Given the description of an element on the screen output the (x, y) to click on. 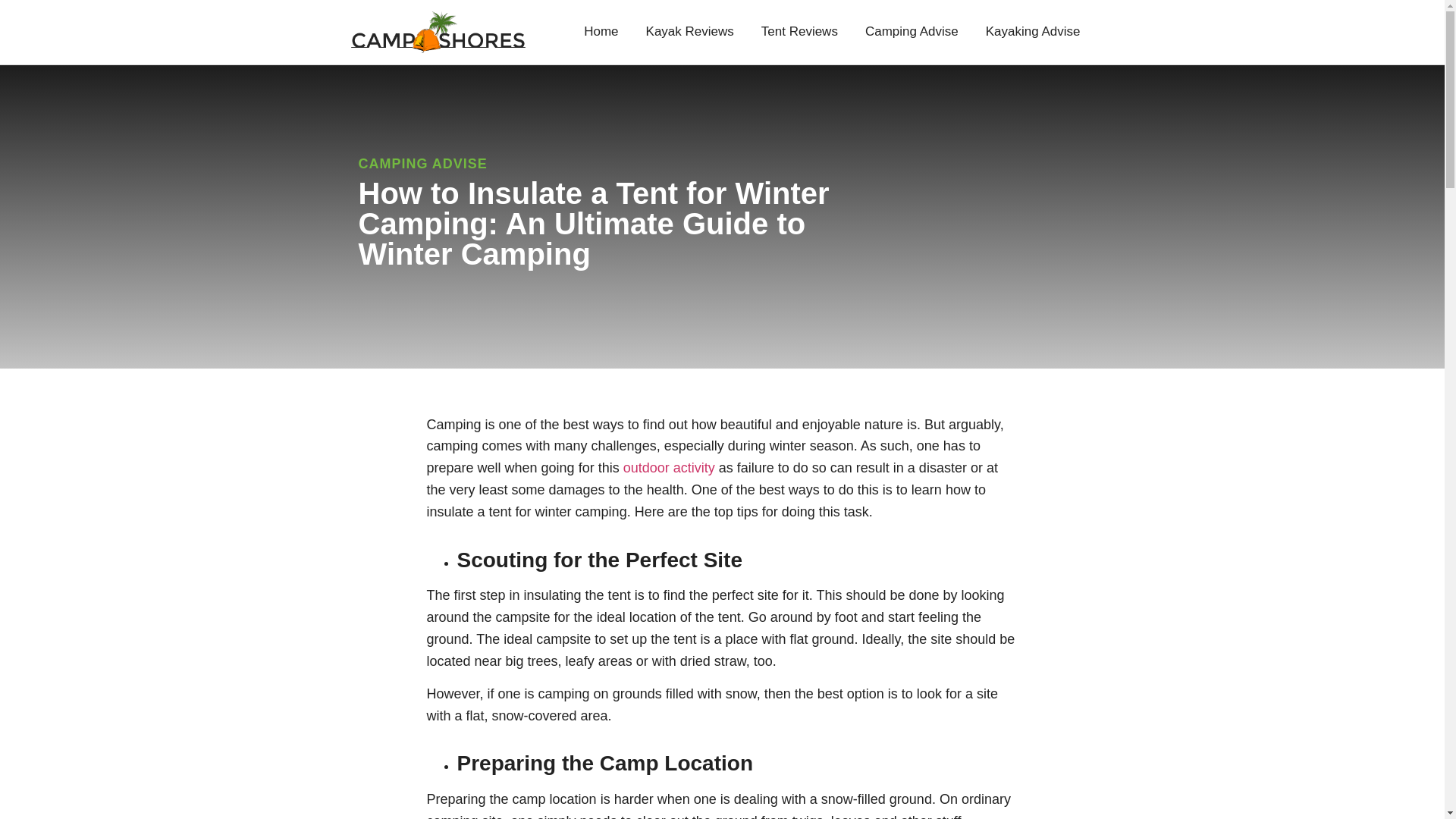
Kayaking Advise (1033, 31)
outdoor activity (668, 467)
Home (600, 31)
Kayak Reviews (689, 31)
Tent Reviews (799, 31)
CAMPING ADVISE (422, 163)
Camping Advise (911, 31)
